Given the description of an element on the screen output the (x, y) to click on. 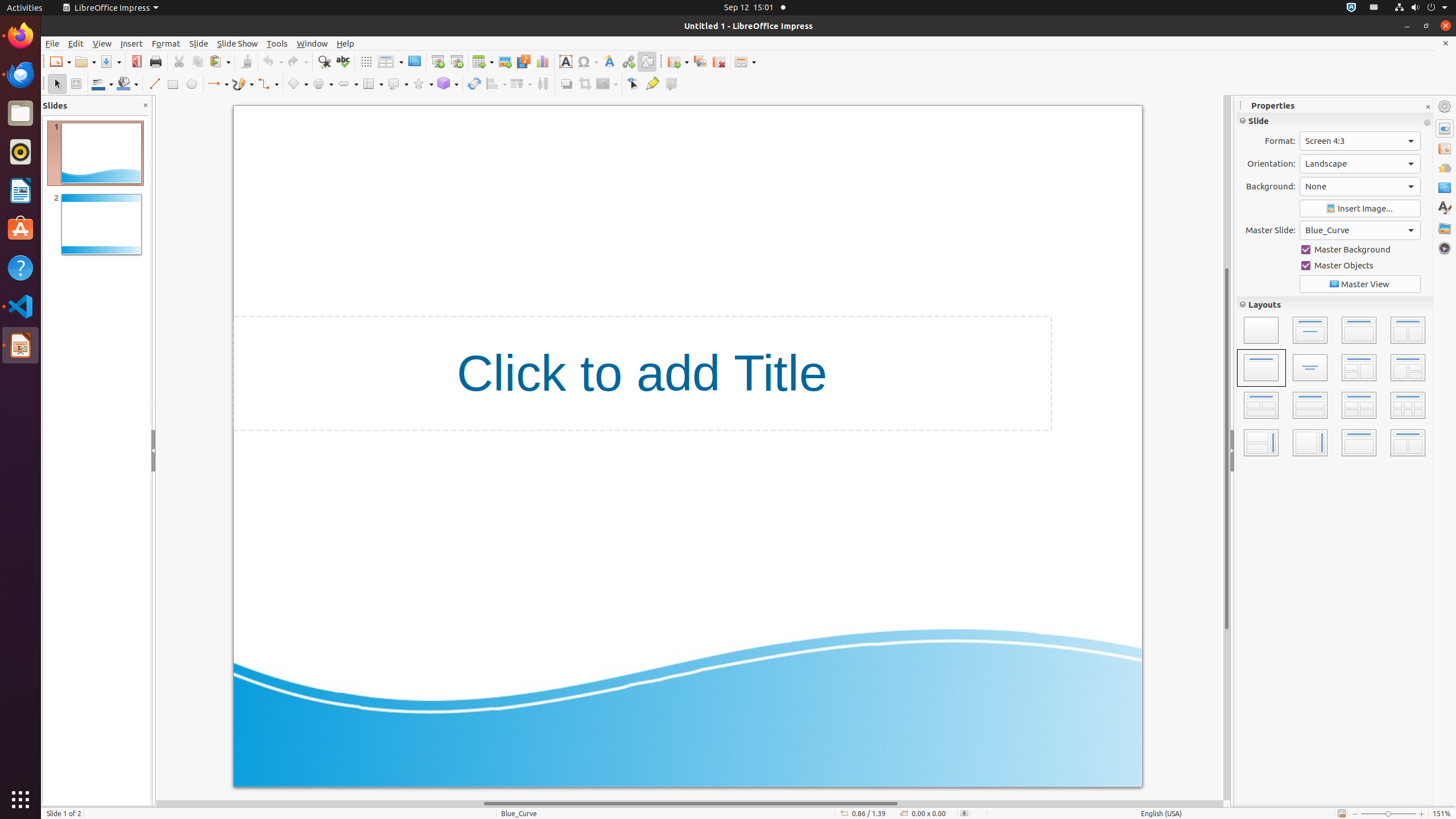
Move Down Element type: push-button (1407, 386)
Paste Element type: push-button (219, 61)
Basic Shapes Element type: push-button (296, 83)
Image Element type: push-button (504, 61)
Rectangle Element type: push-button (172, 83)
